Given the description of an element on the screen output the (x, y) to click on. 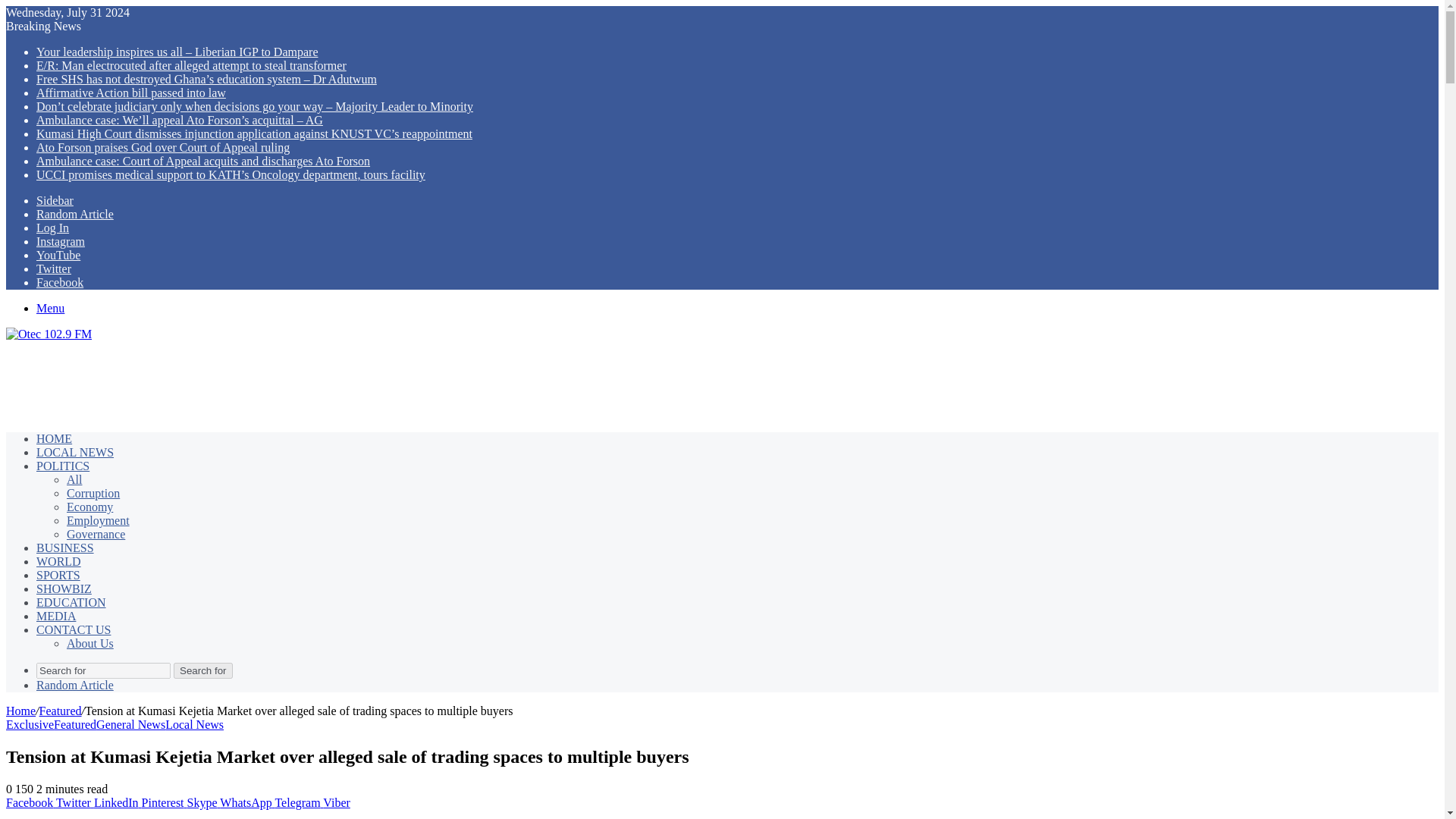
CONTACT US (73, 629)
All (73, 479)
BUSINESS (65, 547)
Ato Forson praises God over Court of Appeal ruling (162, 146)
Telegram (299, 802)
Governance (95, 533)
MEDIA (55, 615)
WhatsApp (247, 802)
WORLD (58, 561)
HOME (53, 438)
Pinterest (164, 802)
SPORTS (58, 574)
About Us (89, 643)
LOCAL NEWS (74, 451)
